Given the description of an element on the screen output the (x, y) to click on. 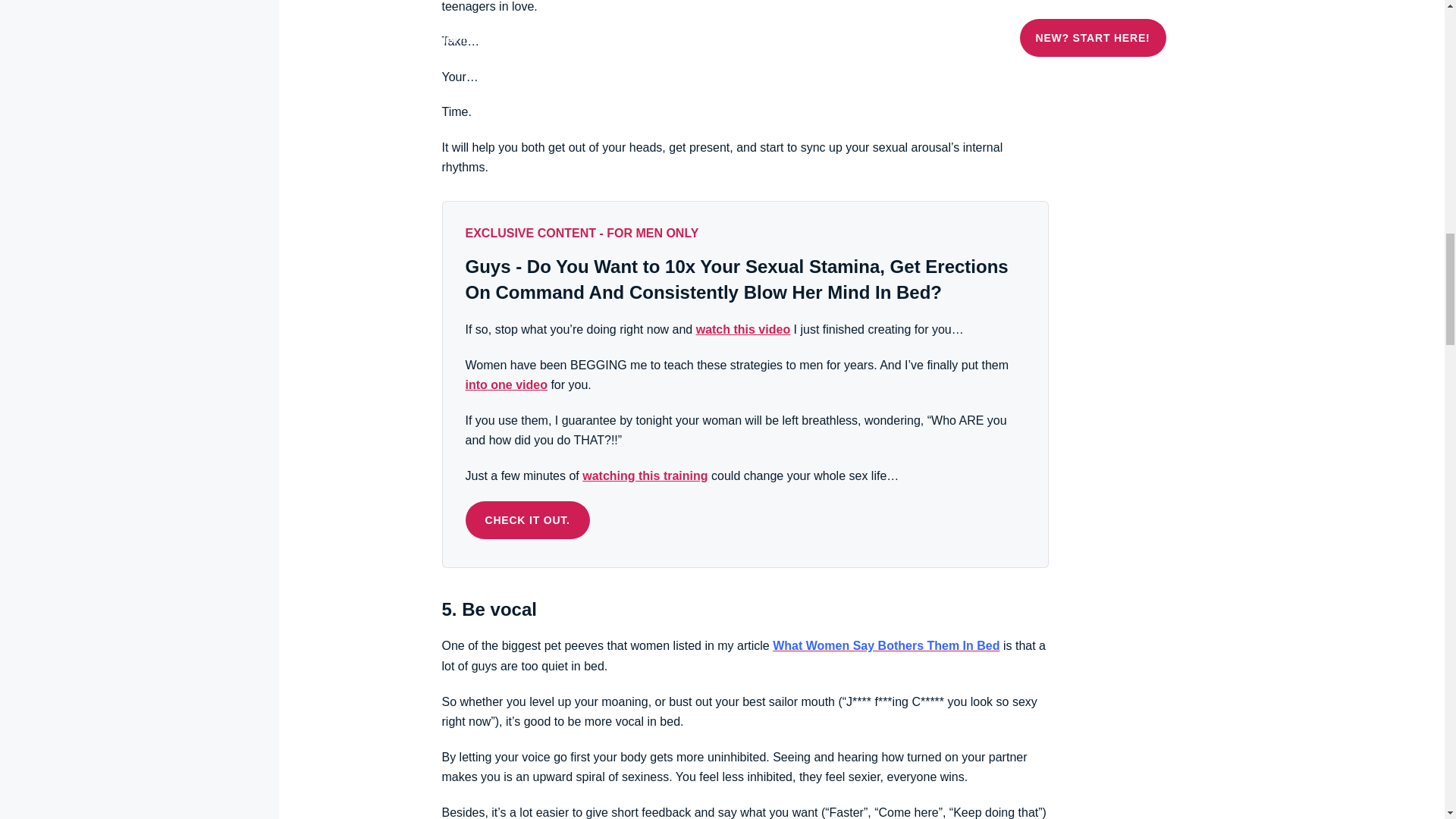
watch this video (742, 328)
watching this training (644, 475)
What Women Say Bothers Them In Bed (885, 645)
into one video (506, 384)
What Women Say Bothers Them In Bed (885, 645)
CHECK IT OUT. (527, 519)
